Given the description of an element on the screen output the (x, y) to click on. 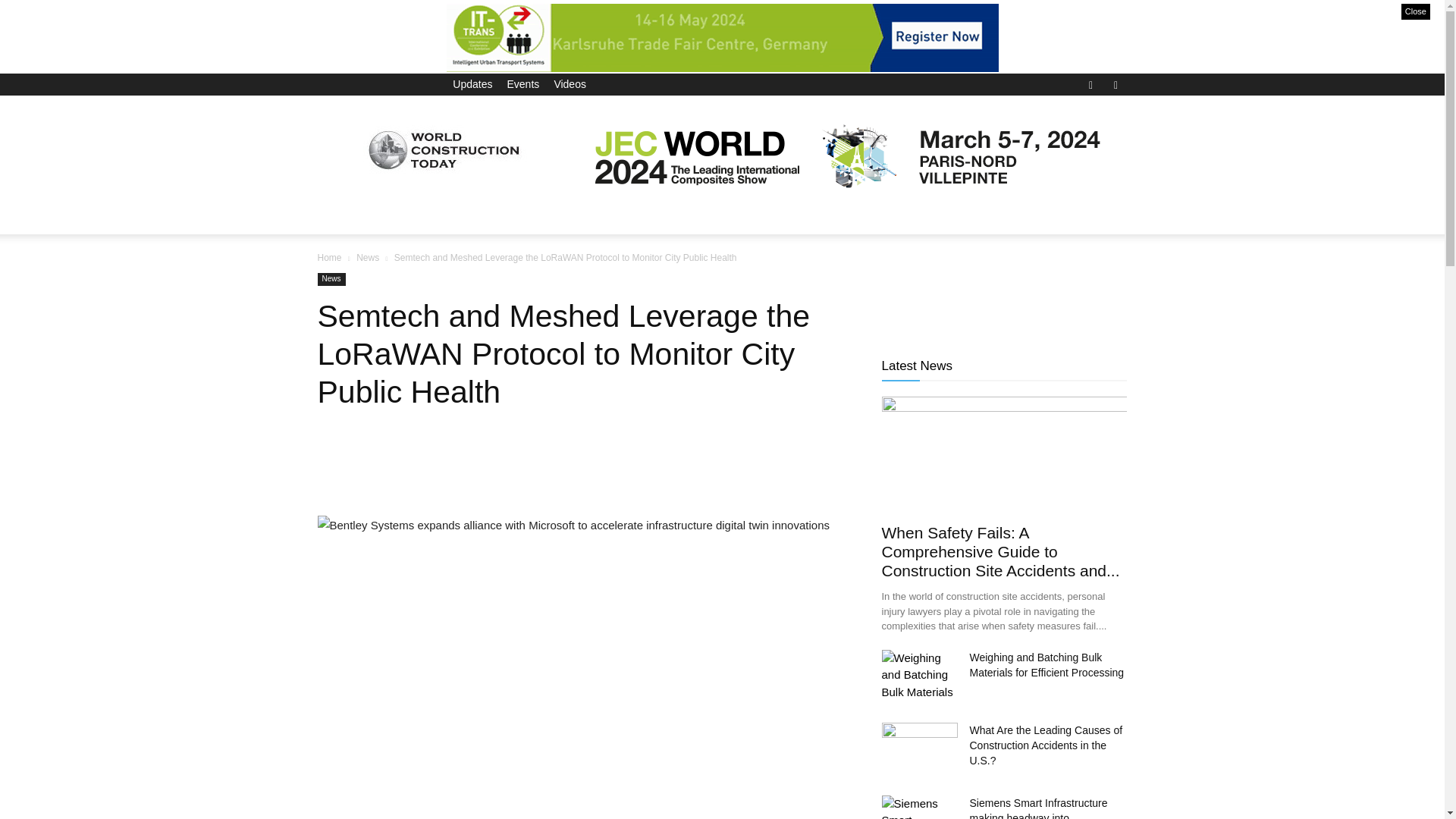
Updates (472, 82)
NEWS (396, 215)
HOME (343, 215)
Videos (569, 82)
Events (522, 82)
Facebook (1090, 83)
Linkedin (1114, 83)
